Given the description of an element on the screen output the (x, y) to click on. 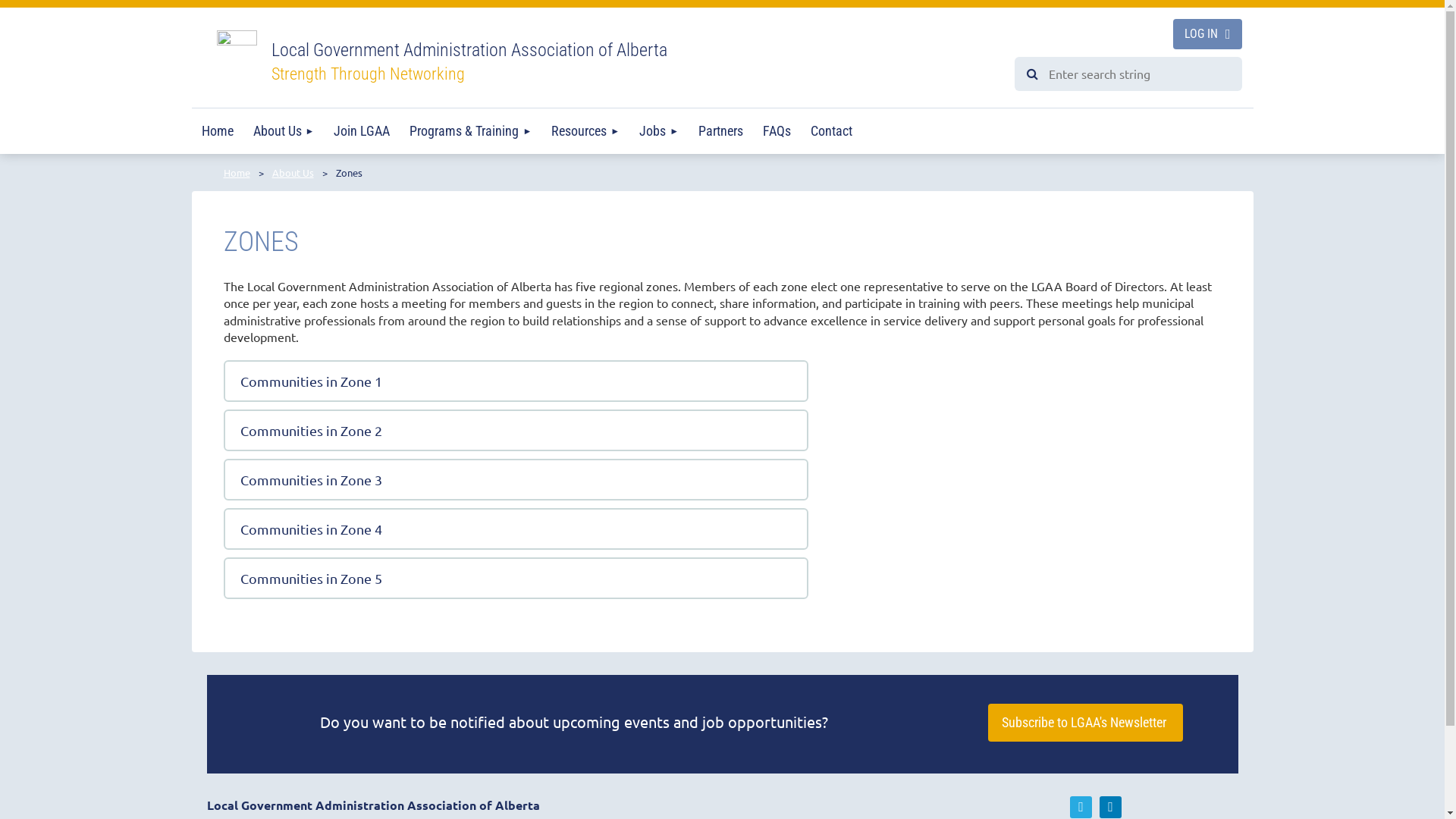
LinkedIn Element type: hover (1110, 807)
Partners Element type: text (720, 130)
About Us Element type: text (282, 130)
Join LGAA Element type: text (361, 130)
Programs & Training Element type: text (470, 130)
Home Element type: text (235, 172)
Twitter Element type: hover (1081, 807)
FAQs Element type: text (776, 130)
LOG IN Element type: text (1207, 33)
Home Element type: text (216, 130)
Resources Element type: text (585, 130)
Contact Element type: text (831, 130)
Jobs Element type: text (658, 130)
About Us Element type: text (292, 172)
Subscribe to LGAA's Newsletter  Element type: text (1085, 722)
